Given the description of an element on the screen output the (x, y) to click on. 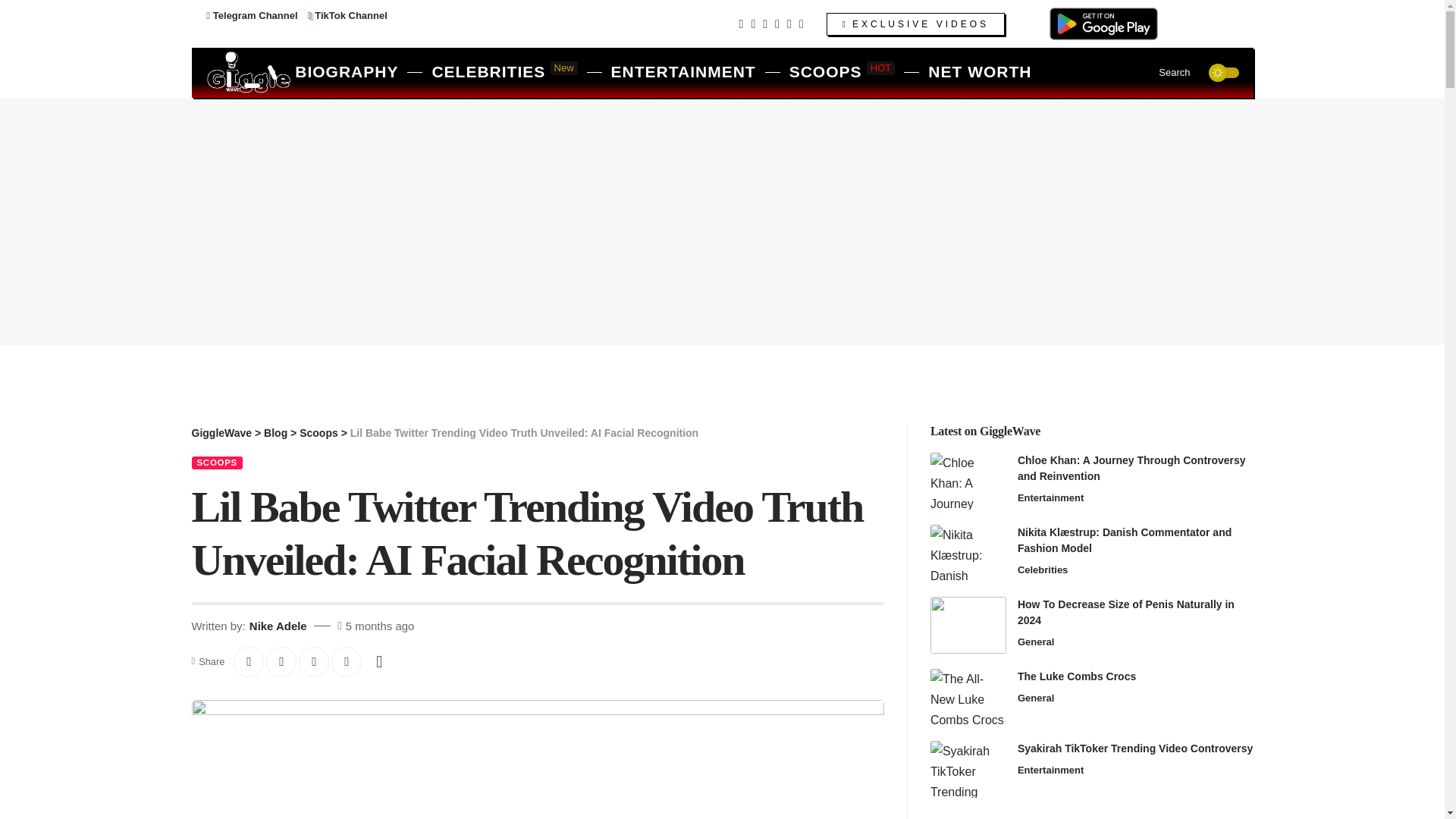
Go to the Scoops Category archives. (318, 432)
The Luke Combs Crocs (968, 697)
EXCLUSIVE VIDEOS (915, 23)
Syakirah TikToker Trending Video Controversy (968, 769)
ENTERTAINMENT (683, 72)
Chloe Khan: A Journey Through Controversy and Reinvention (504, 72)
How To Decrease Size of Penis Naturally in 2024 (968, 480)
BIOGRAPHY (968, 625)
Telegram Channel (346, 72)
